Given the description of an element on the screen output the (x, y) to click on. 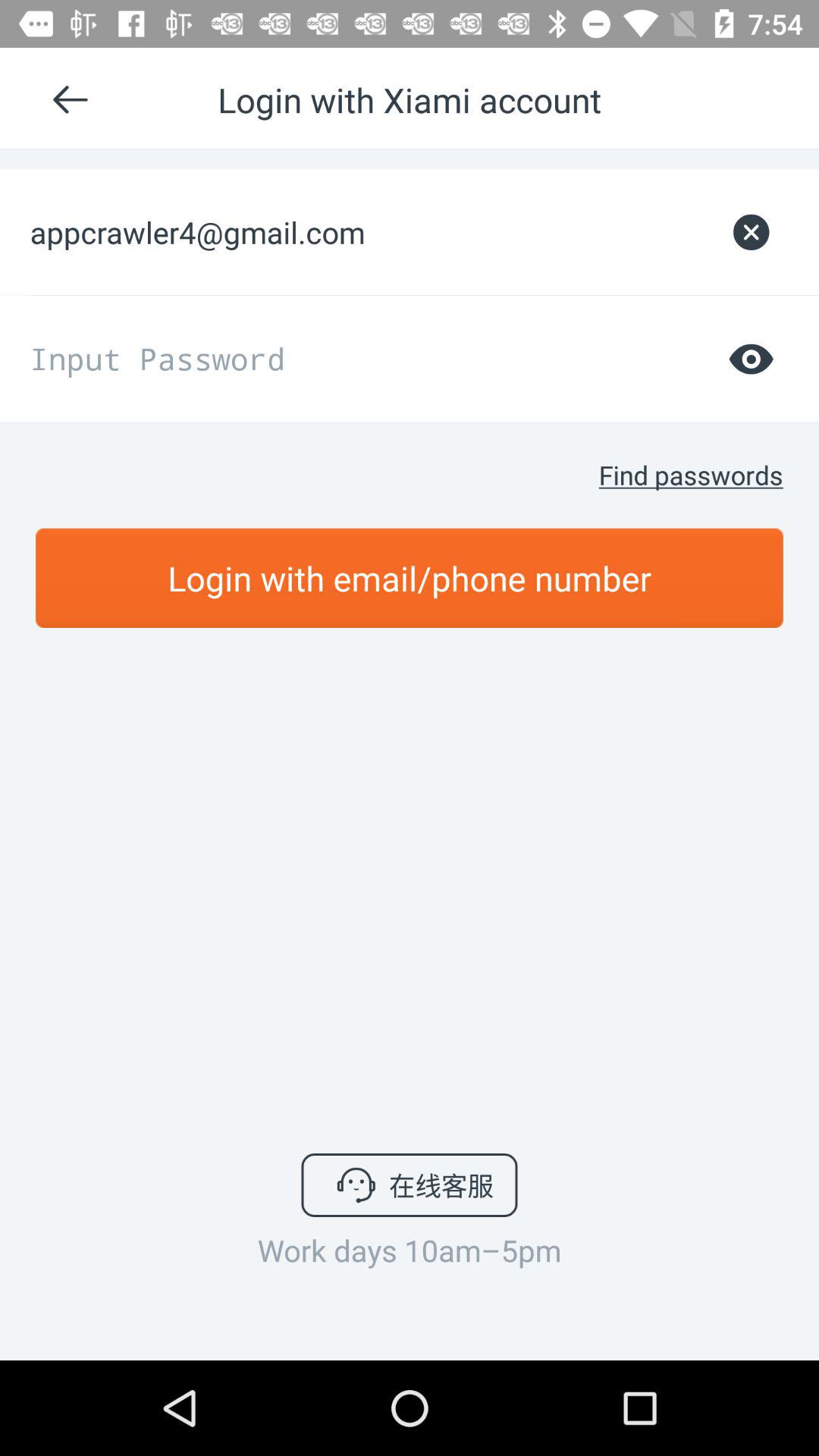
click app above find passwords item (751, 358)
